Given the description of an element on the screen output the (x, y) to click on. 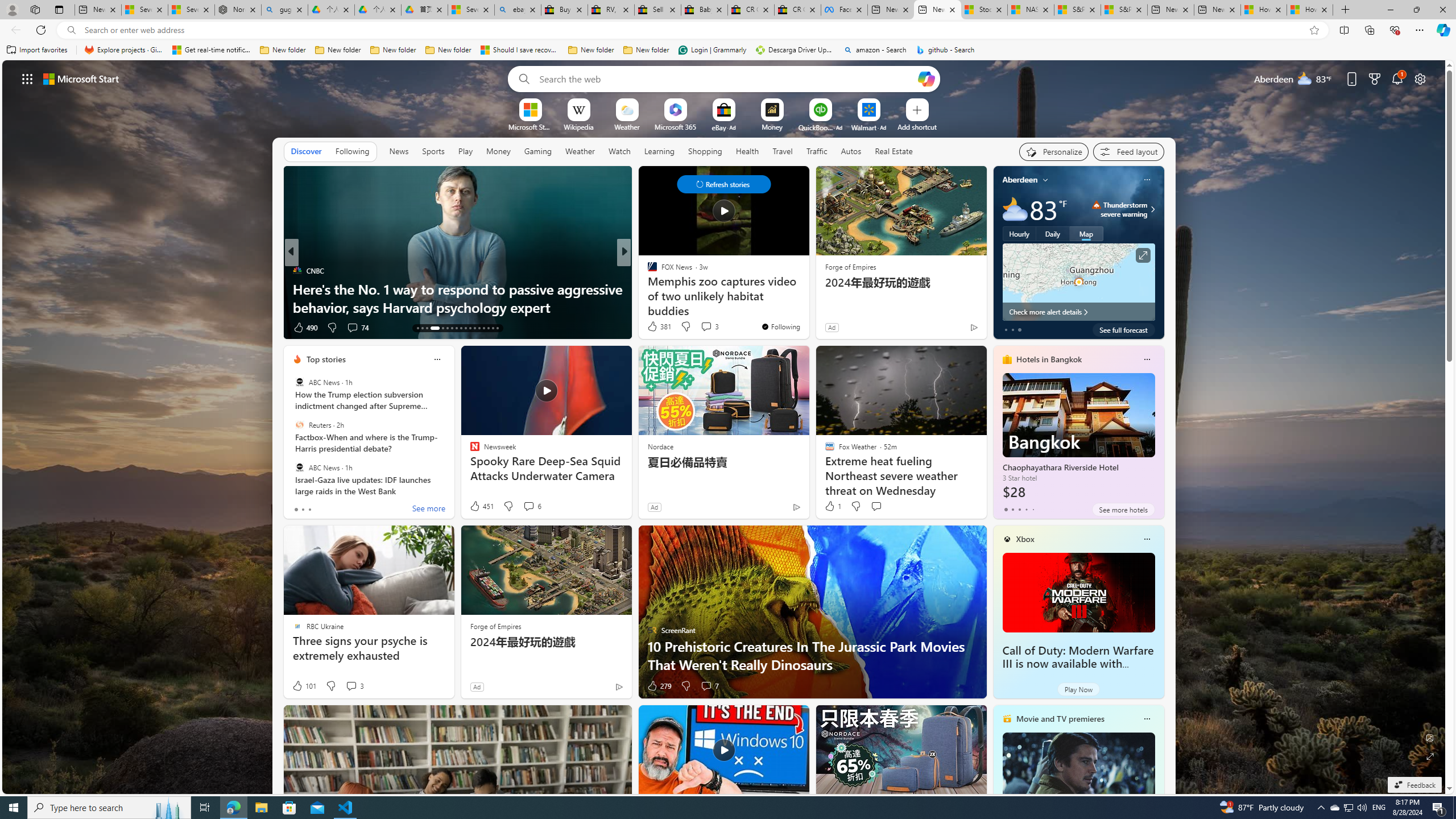
Play (465, 151)
View comments 74 Comment (6, 327)
View comments 19 Comment (704, 327)
AutomationID: tab-18 (446, 328)
View comments 4 Comment (703, 327)
13 Like (652, 327)
192 Like (654, 327)
Shopping (705, 151)
AutomationID: tab-19 (451, 328)
Enter your search term (726, 78)
Check more alert details (1077, 311)
Microsoft start (81, 78)
